Given the description of an element on the screen output the (x, y) to click on. 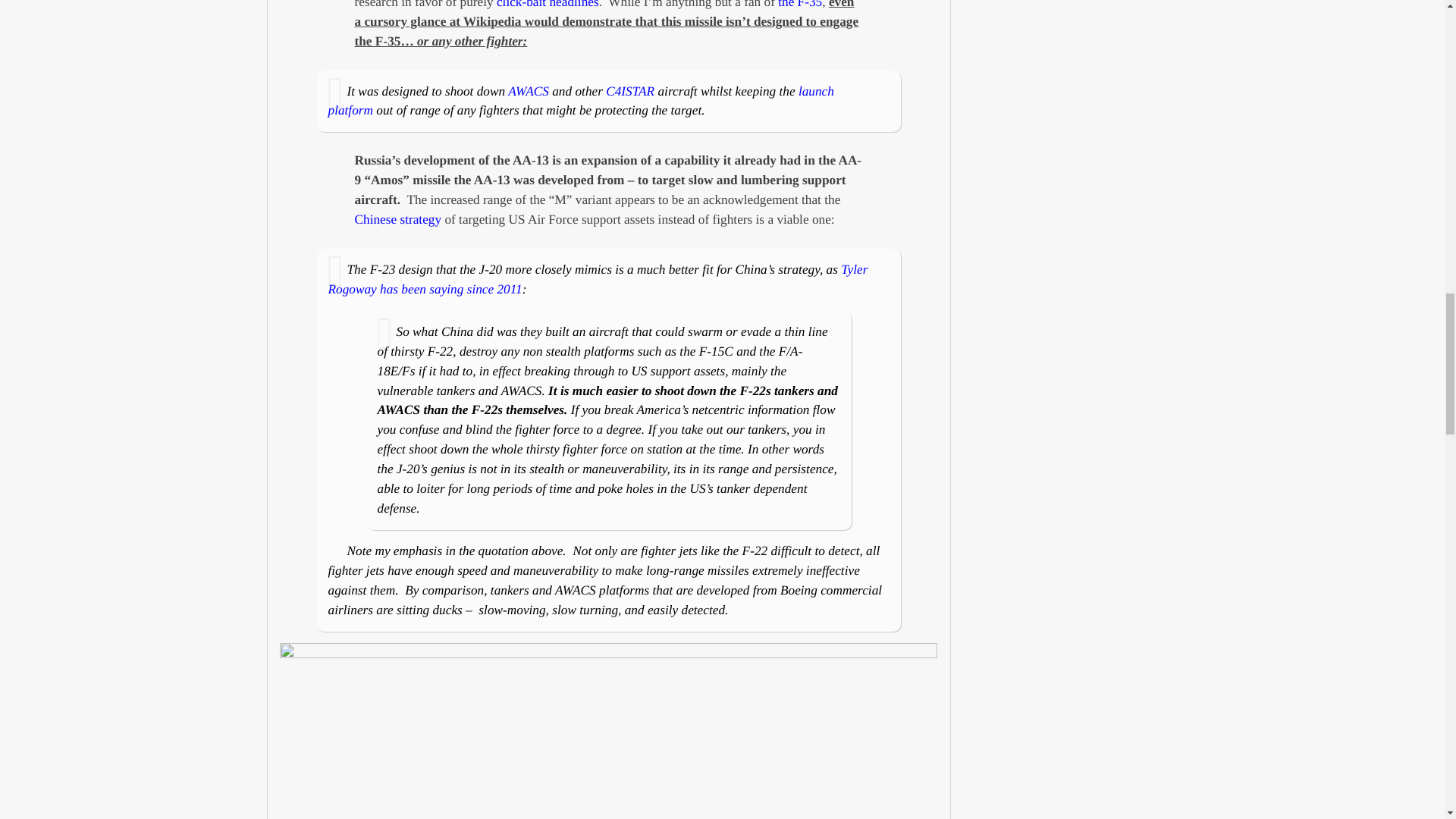
C4ISTAR (629, 91)
click-bait headlines (547, 4)
Airborne Early Warning and Control (528, 91)
Tyler Rogoway has been saying since 2011 (597, 279)
Launch platform (579, 100)
the F-35 (799, 4)
C4ISTAR (629, 91)
AWACS (528, 91)
launch platform (579, 100)
Chinese strategy (398, 219)
